Given the description of an element on the screen output the (x, y) to click on. 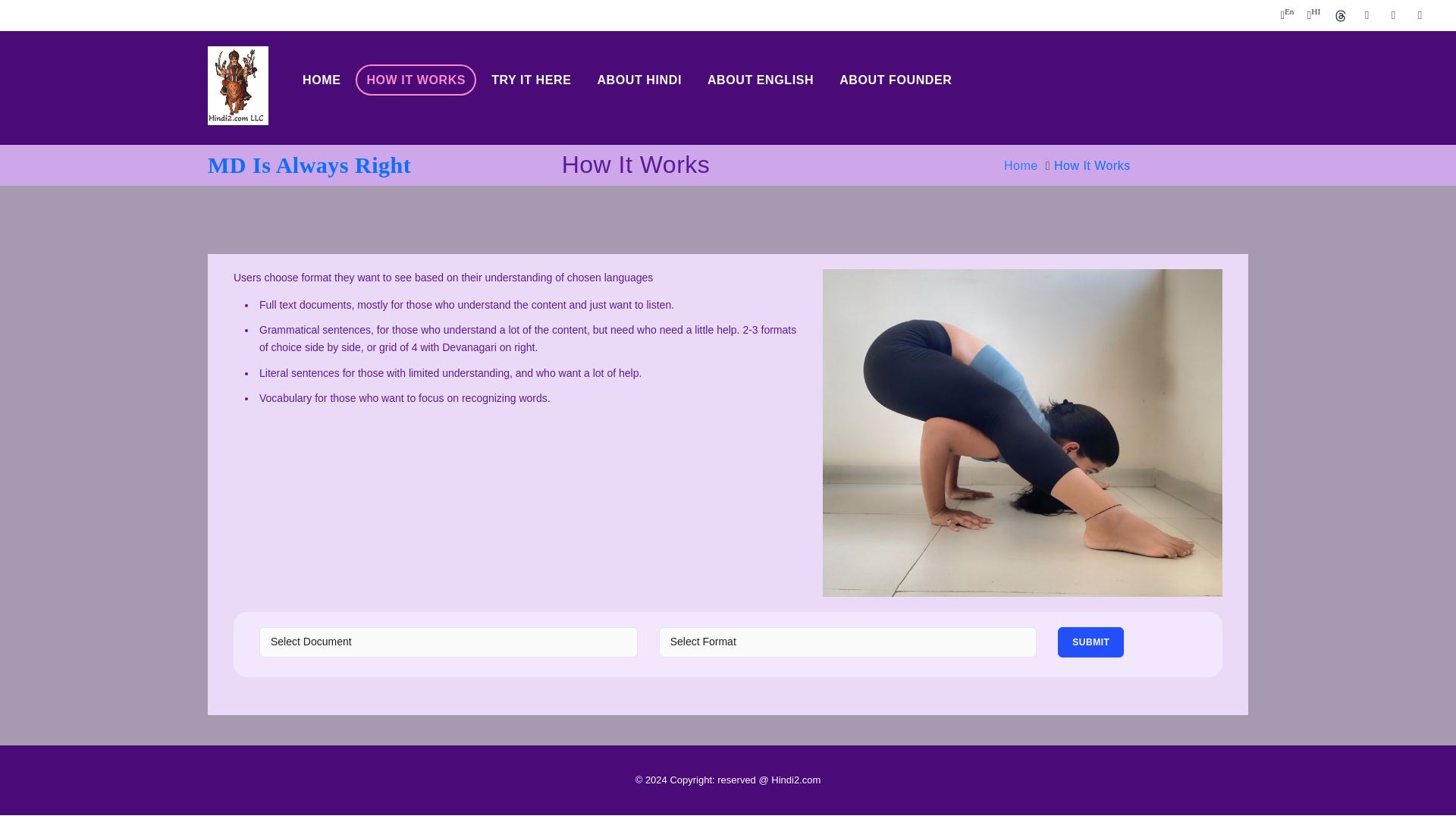
Home (1021, 164)
ABOUT ENGLISH (760, 79)
ABOUT HINDI (638, 79)
ABOUT FOUNDER (895, 79)
TRY IT HERE (530, 79)
MD Is Always Right (309, 164)
HOME (321, 79)
How It Works (1092, 164)
HOW IT WORKS (415, 79)
SUBMIT (1091, 642)
